Given the description of an element on the screen output the (x, y) to click on. 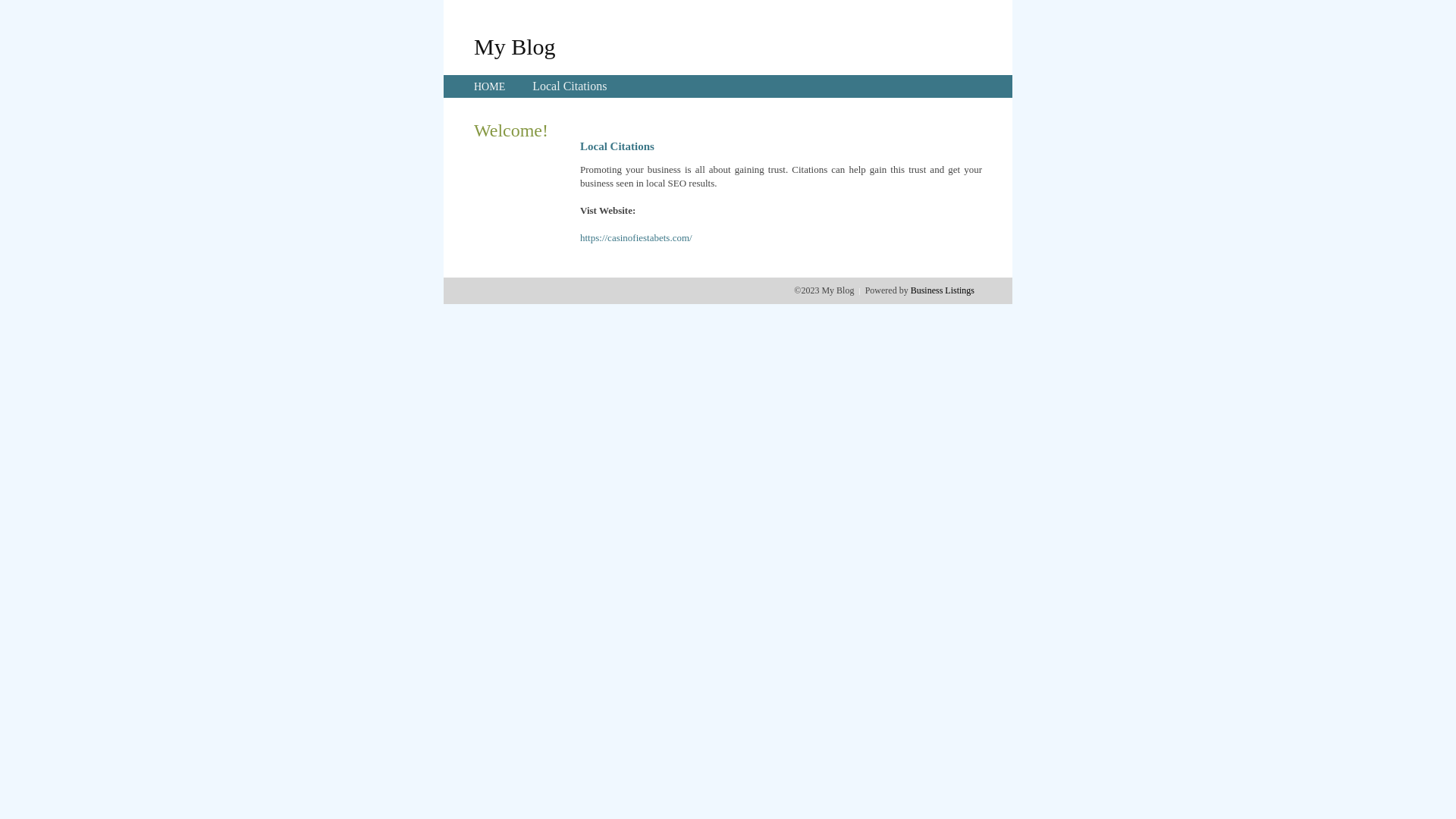
Business Listings Element type: text (942, 290)
Local Citations Element type: text (569, 85)
https://casinofiestabets.com/ Element type: text (636, 237)
HOME Element type: text (489, 86)
My Blog Element type: text (514, 46)
